Given the description of an element on the screen output the (x, y) to click on. 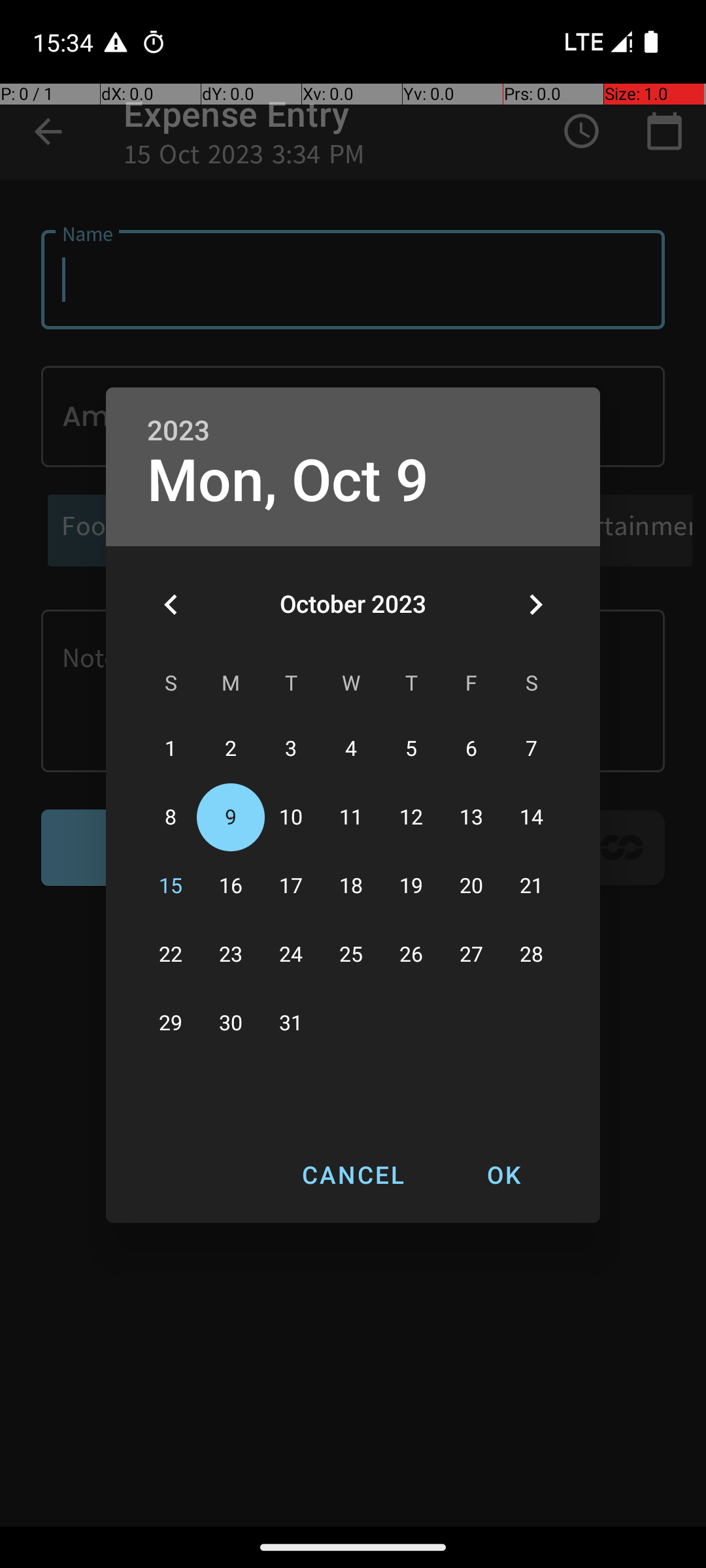
2023 Element type: android.widget.TextView (178, 430)
Mon, Oct 9 Element type: android.widget.TextView (287, 480)
Previous month Element type: android.widget.ImageButton (170, 604)
Next month Element type: android.widget.ImageButton (535, 604)
CANCEL Element type: android.widget.Button (352, 1174)
11 Element type: android.view.View (350, 817)
12 Element type: android.view.View (411, 817)
13 Element type: android.view.View (471, 817)
14 Element type: android.view.View (531, 817)
16 Element type: android.view.View (230, 885)
17 Element type: android.view.View (290, 885)
18 Element type: android.view.View (350, 885)
19 Element type: android.view.View (411, 885)
21 Element type: android.view.View (531, 885)
22 Element type: android.view.View (170, 954)
23 Element type: android.view.View (230, 954)
24 Element type: android.view.View (290, 954)
26 Element type: android.view.View (411, 954)
27 Element type: android.view.View (471, 954)
28 Element type: android.view.View (531, 954)
29 Element type: android.view.View (170, 1023)
31 Element type: android.view.View (290, 1023)
